Given the description of an element on the screen output the (x, y) to click on. 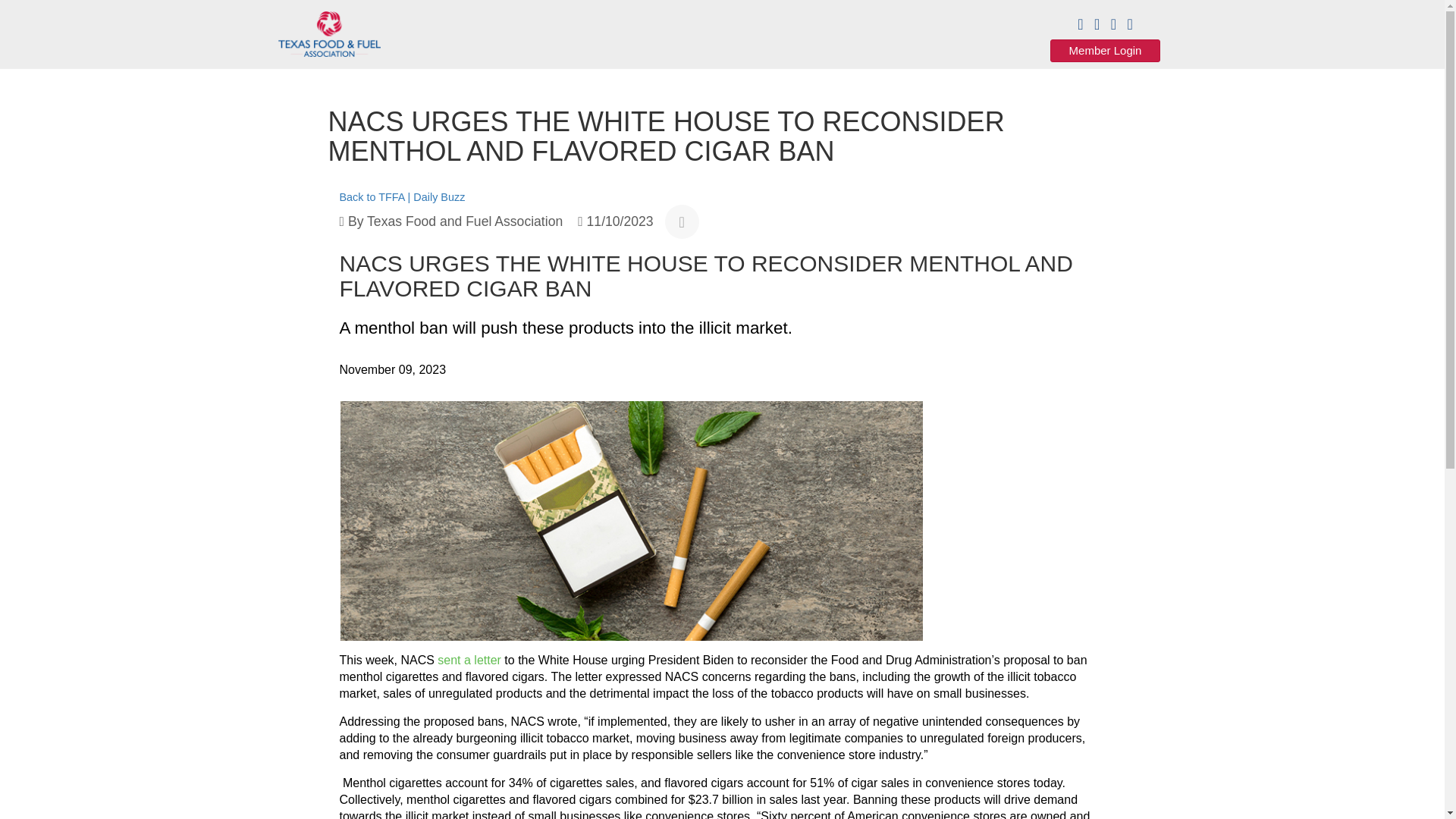
Member Login (1104, 50)
tffa logo transparent 552x242 (329, 33)
